Given the description of an element on the screen output the (x, y) to click on. 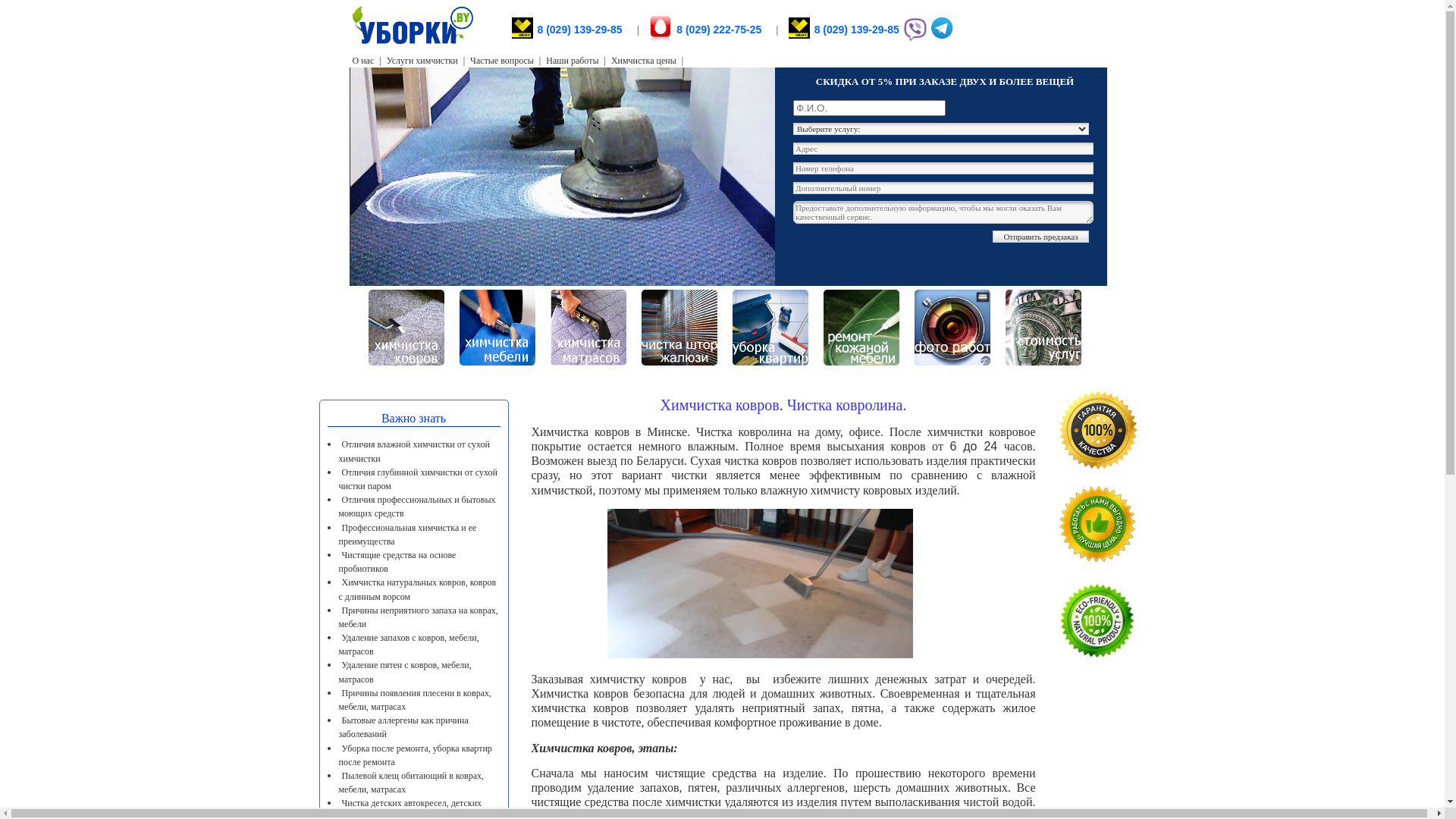
Telegram Element type: hover (941, 37)
8 (029) 139-29-85 Element type: hover (798, 27)
8 (029) 222-75-25 Element type: hover (660, 27)
8 (029) 222-75-25 Element type: text (718, 30)
8 (029) 139-29-85 Element type: text (856, 29)
8 (029) 139-29-85  Element type: hover (521, 27)
uborki.by Element type: hover (562, 176)
8 (029) 139-29-85 Element type: text (580, 30)
Viber Element type: hover (914, 37)
